Given the description of an element on the screen output the (x, y) to click on. 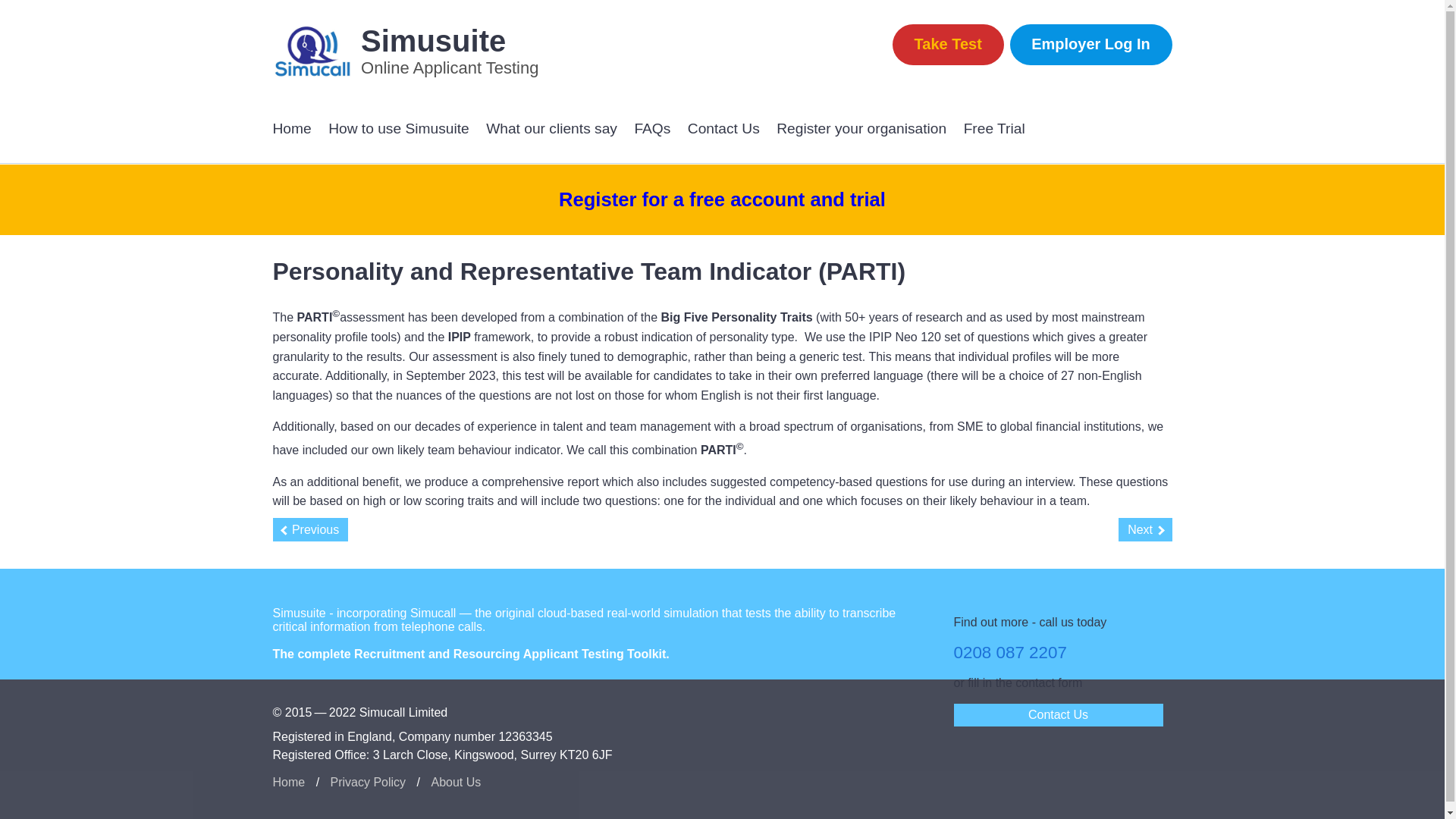
Register your organisation (861, 129)
Free Trial (994, 129)
Next (1145, 529)
Register for a free account and trial (722, 199)
Employer Log In (1091, 44)
Home (292, 129)
What our clients say (551, 129)
0208 087 2207 (1010, 651)
FAQs (651, 129)
Contact Us (1058, 714)
How to use Simusuite (398, 129)
Take Test (948, 44)
Home (289, 782)
About Us (455, 782)
Contact Us (723, 129)
